Given the description of an element on the screen output the (x, y) to click on. 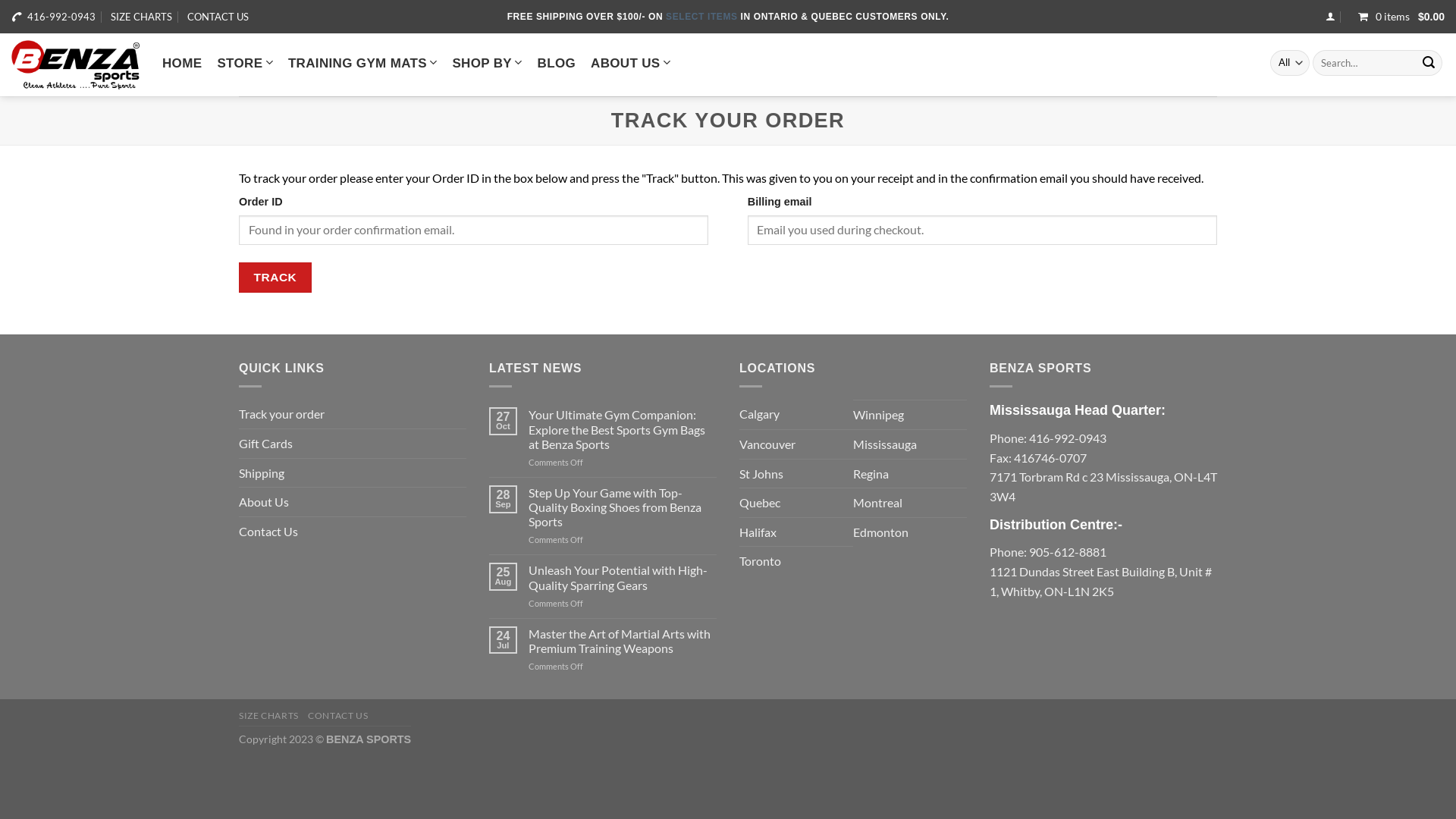
Calgary Element type: text (759, 413)
BLOG Element type: text (556, 63)
Mississauga Element type: text (884, 443)
SIZE CHARTS Element type: text (141, 16)
HOME Element type: text (181, 63)
CONTACT US Element type: text (337, 715)
Search Element type: text (1428, 62)
TRACK Element type: text (274, 276)
STORE Element type: text (244, 62)
ABOUT US Element type: text (630, 62)
416-992-0943 Element type: text (61, 16)
Winnipeg Element type: text (878, 414)
0 items  
$0.00 Element type: text (1397, 16)
Regina Element type: text (870, 473)
Halifax Element type: text (757, 531)
SELECT ITEMS Element type: text (702, 16)
Montreal Element type: text (877, 502)
St Johns Element type: text (761, 473)
Contact Us Element type: text (268, 531)
Quebec Element type: text (759, 502)
Vancouver Element type: text (767, 443)
416-992-0943 Element type: text (1067, 437)
Shipping Element type: text (261, 472)
Master the Art of Martial Arts with Premium Training Weapons Element type: text (622, 640)
Toronto Element type: text (760, 560)
905-612-8881 Element type: text (1067, 551)
About Us Element type: text (263, 501)
TRAINING GYM MATS Element type: text (362, 62)
Edmonton Element type: text (880, 531)
Track your order Element type: text (281, 413)
SHOP BY Element type: text (486, 62)
SIZE CHARTS Element type: text (268, 715)
Gift Cards Element type: text (265, 443)
Unleash Your Potential with High-Quality Sparring Gears Element type: text (622, 576)
CONTACT US Element type: text (217, 16)
